Given the description of an element on the screen output the (x, y) to click on. 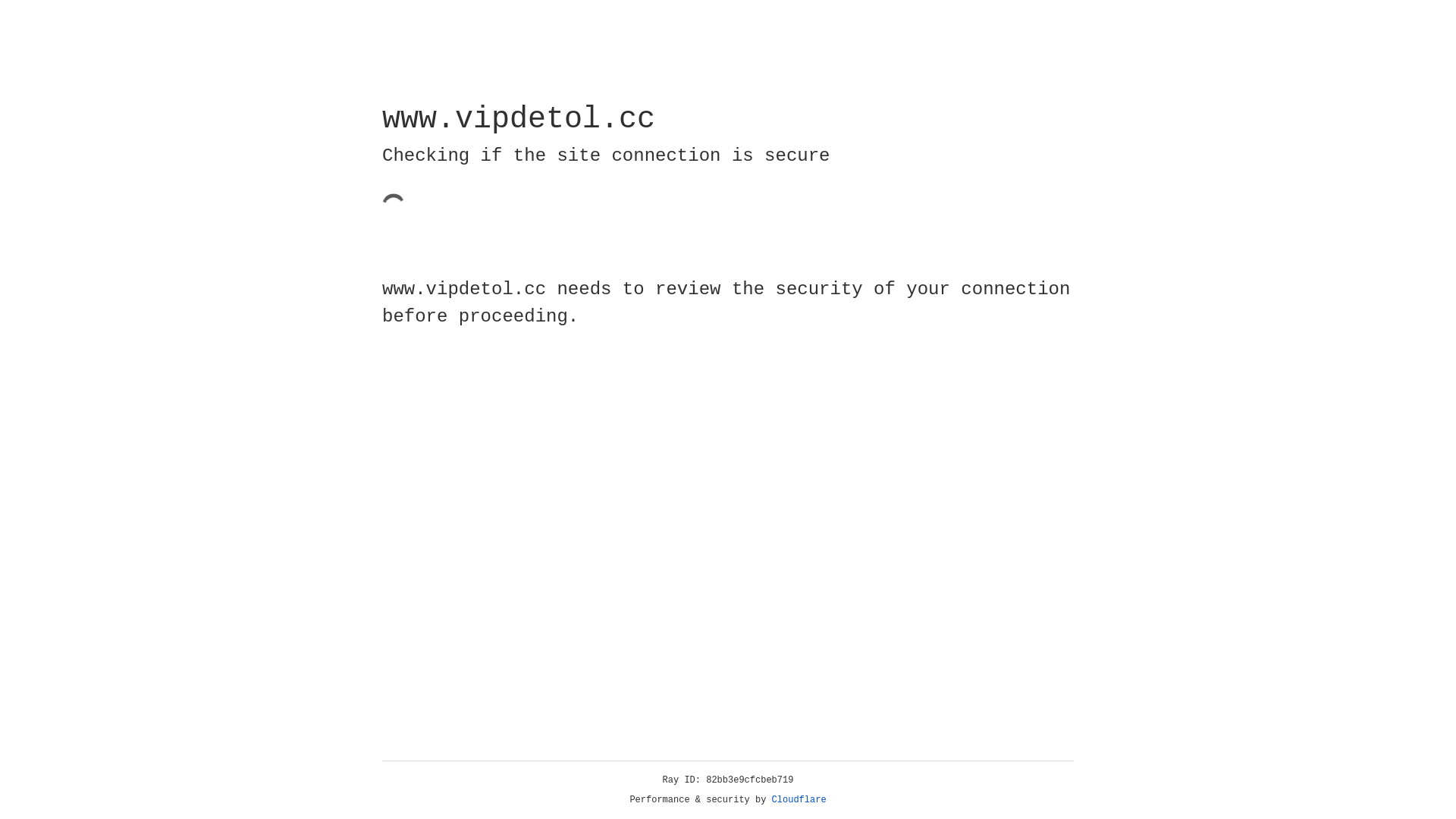
Cloudflare Element type: text (798, 799)
